Given the description of an element on the screen output the (x, y) to click on. 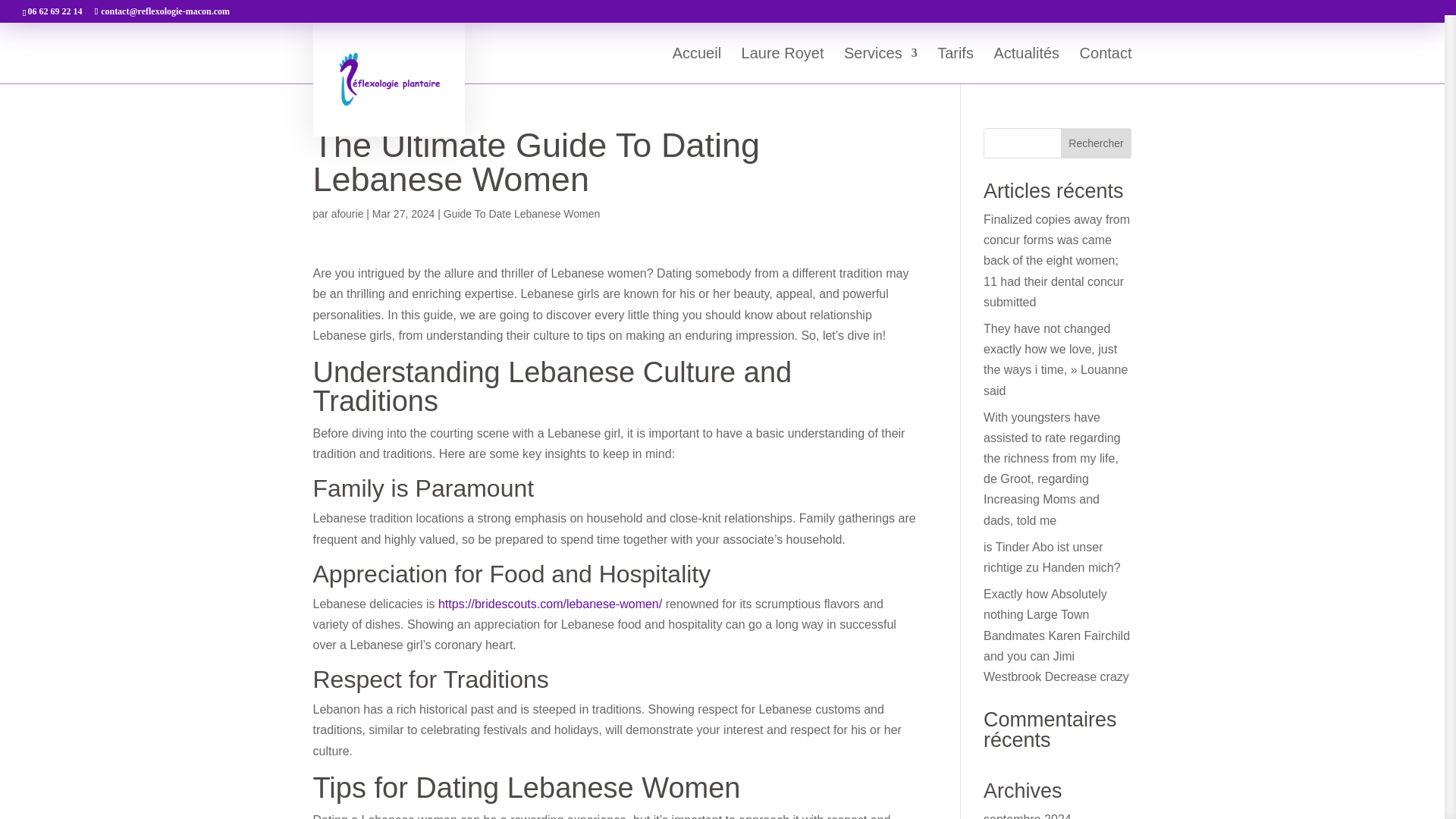
Accueil (696, 65)
Articles de afourie (347, 214)
Laure Royet (782, 65)
afourie (347, 214)
Rechercher (1096, 142)
Guide To Date Lebanese Women (521, 214)
septembre 2024 (1027, 816)
Rechercher (1096, 142)
Contact (1106, 65)
Tarifs (955, 65)
